Given the description of an element on the screen output the (x, y) to click on. 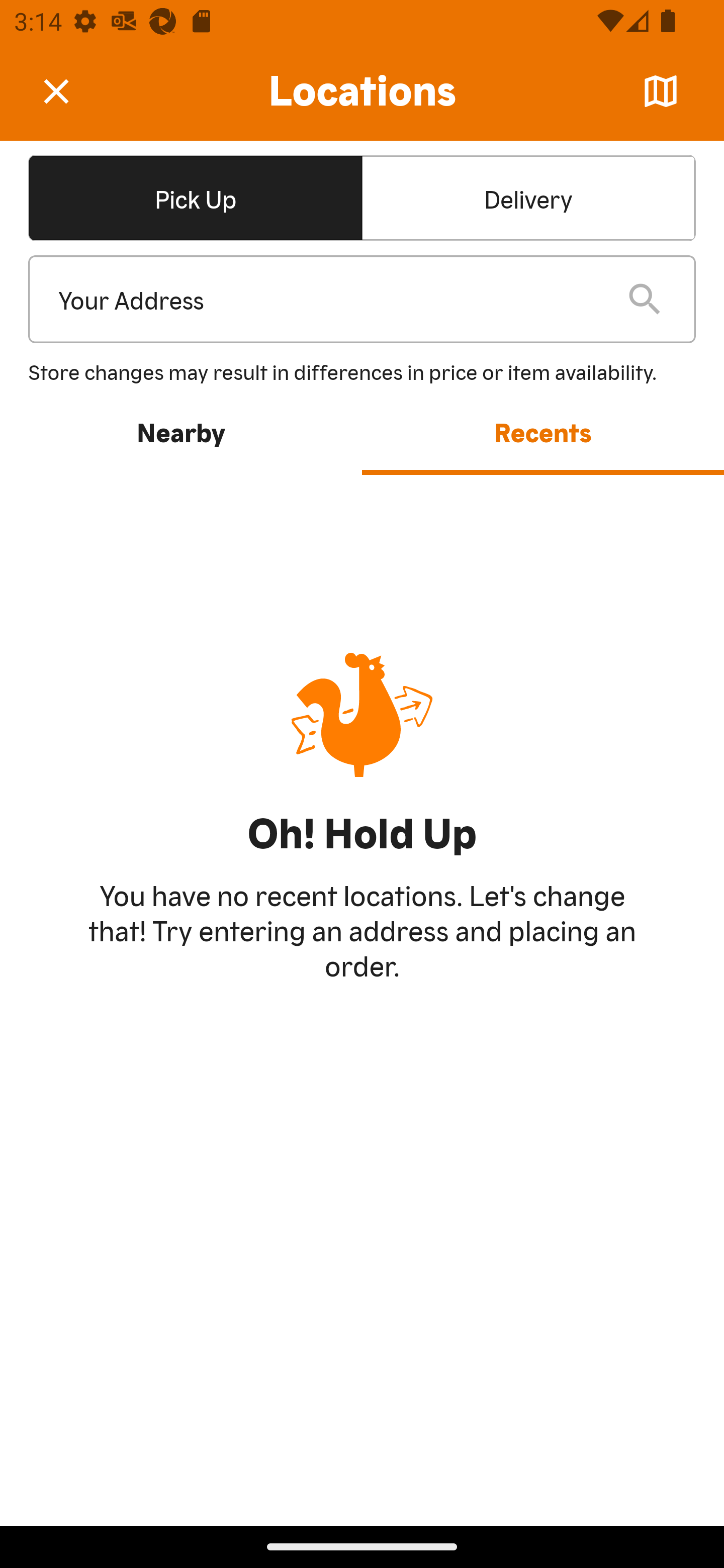
 (70, 90)
Map 󰦂 (660, 91)
Locations (362, 91)
Pick UpSelected Pick UpSelected Pick Up (195, 197)
Delivery Delivery Delivery (528, 197)
Your Address (327, 299)
Nearby (181, 430)
Recents (543, 430)
